Given the description of an element on the screen output the (x, y) to click on. 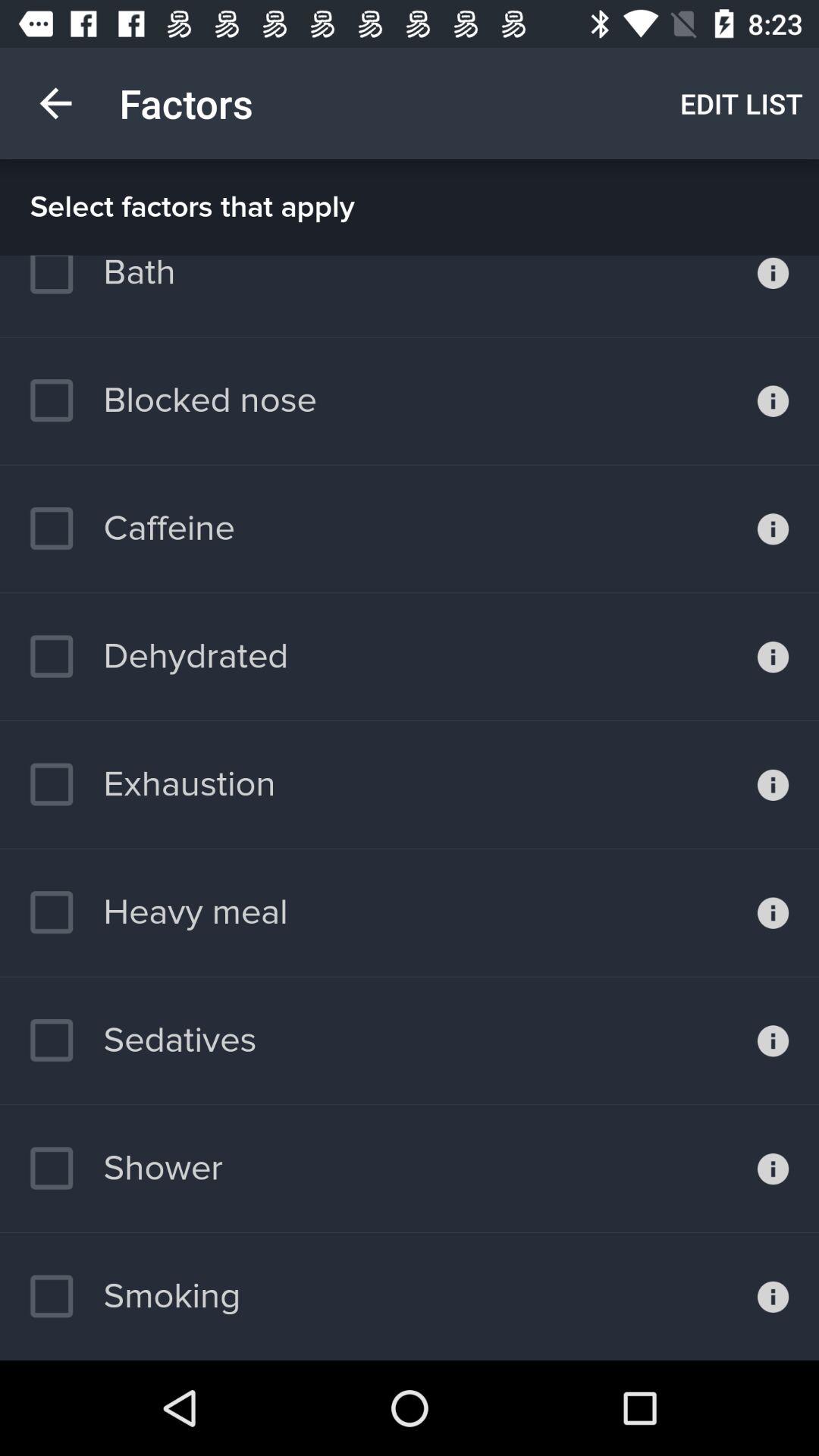
get information about the heavy meal factor (773, 912)
